Given the description of an element on the screen output the (x, y) to click on. 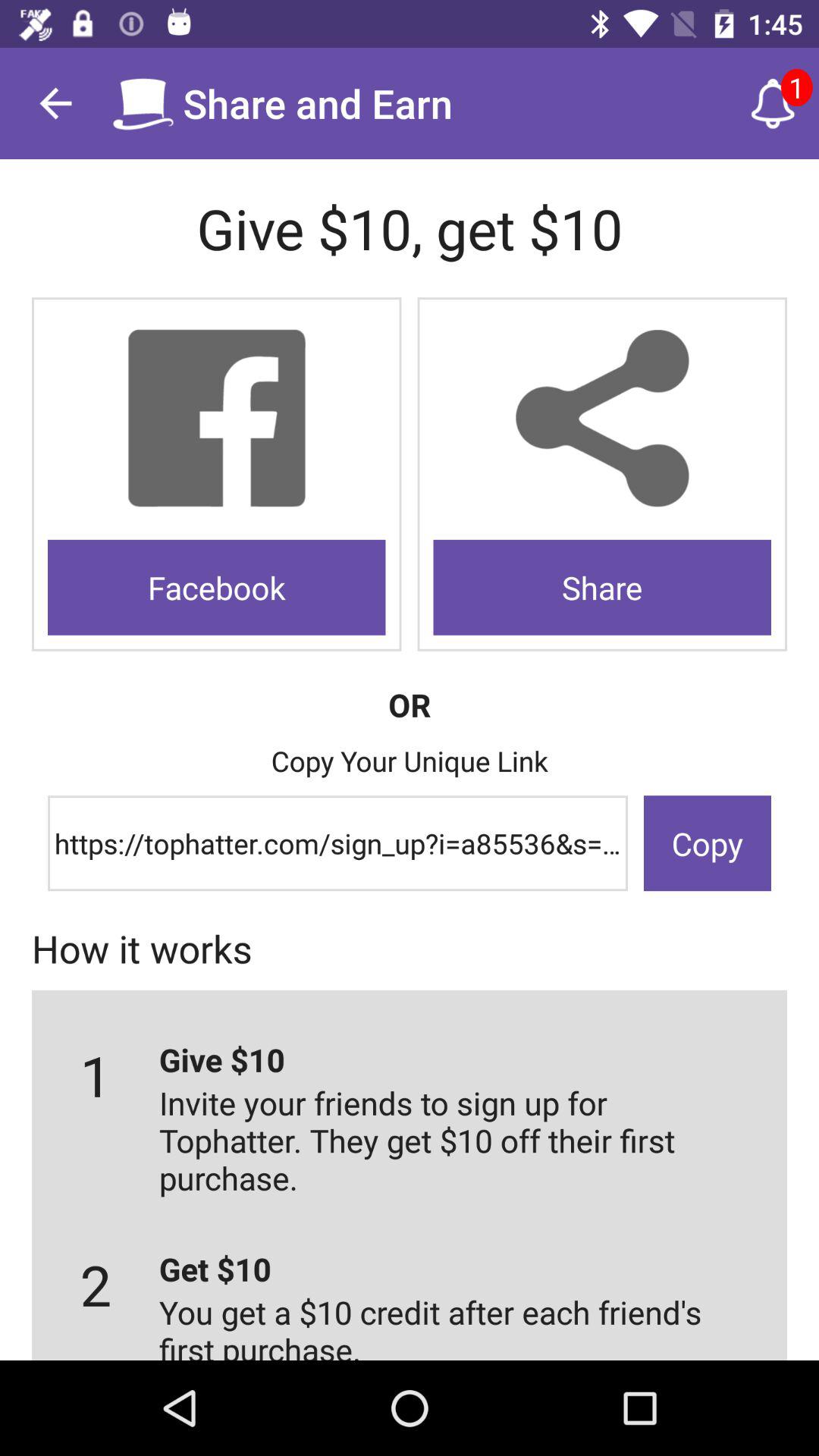
open notifications (772, 103)
